Given the description of an element on the screen output the (x, y) to click on. 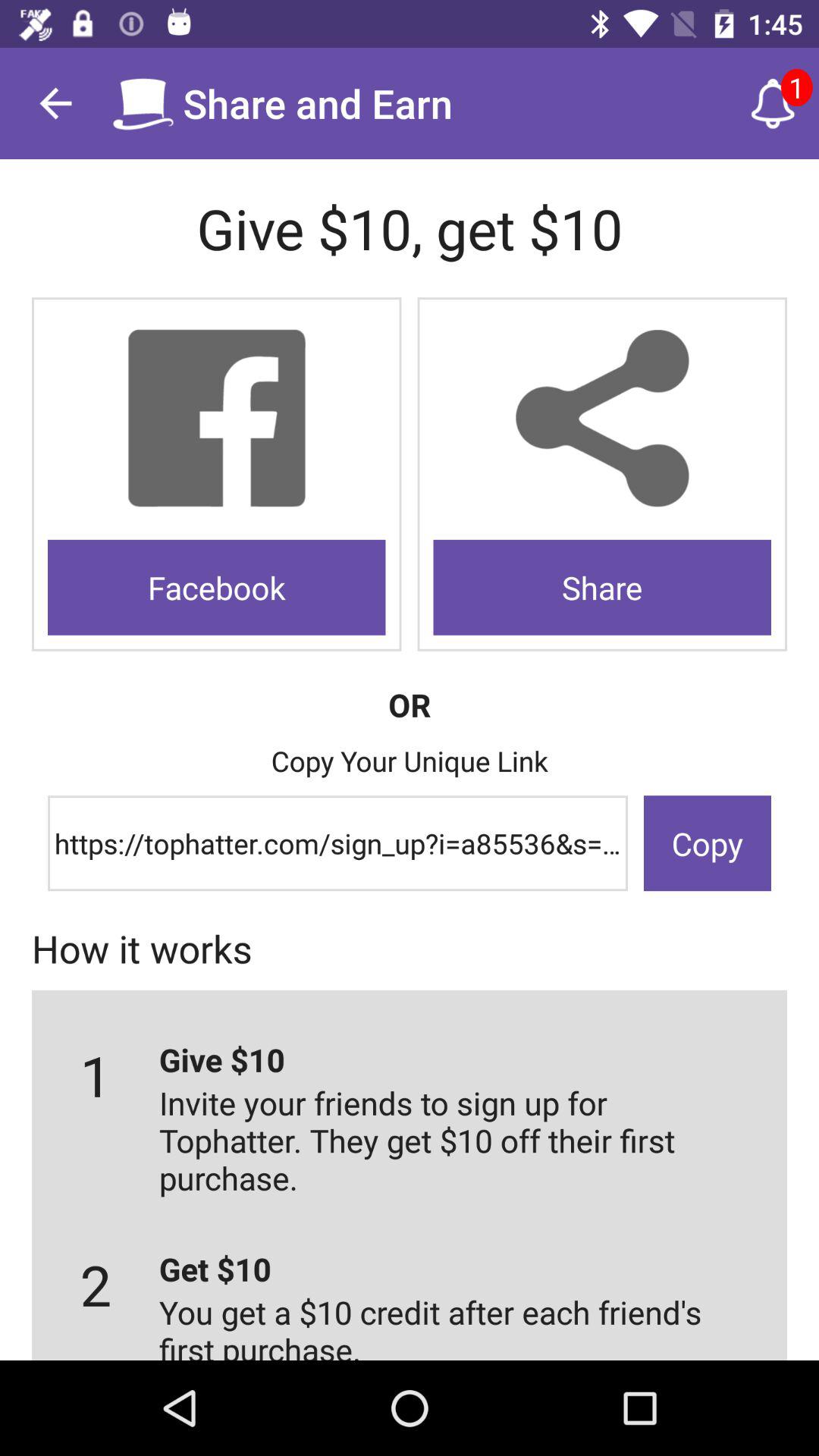
open notifications (772, 103)
